Given the description of an element on the screen output the (x, y) to click on. 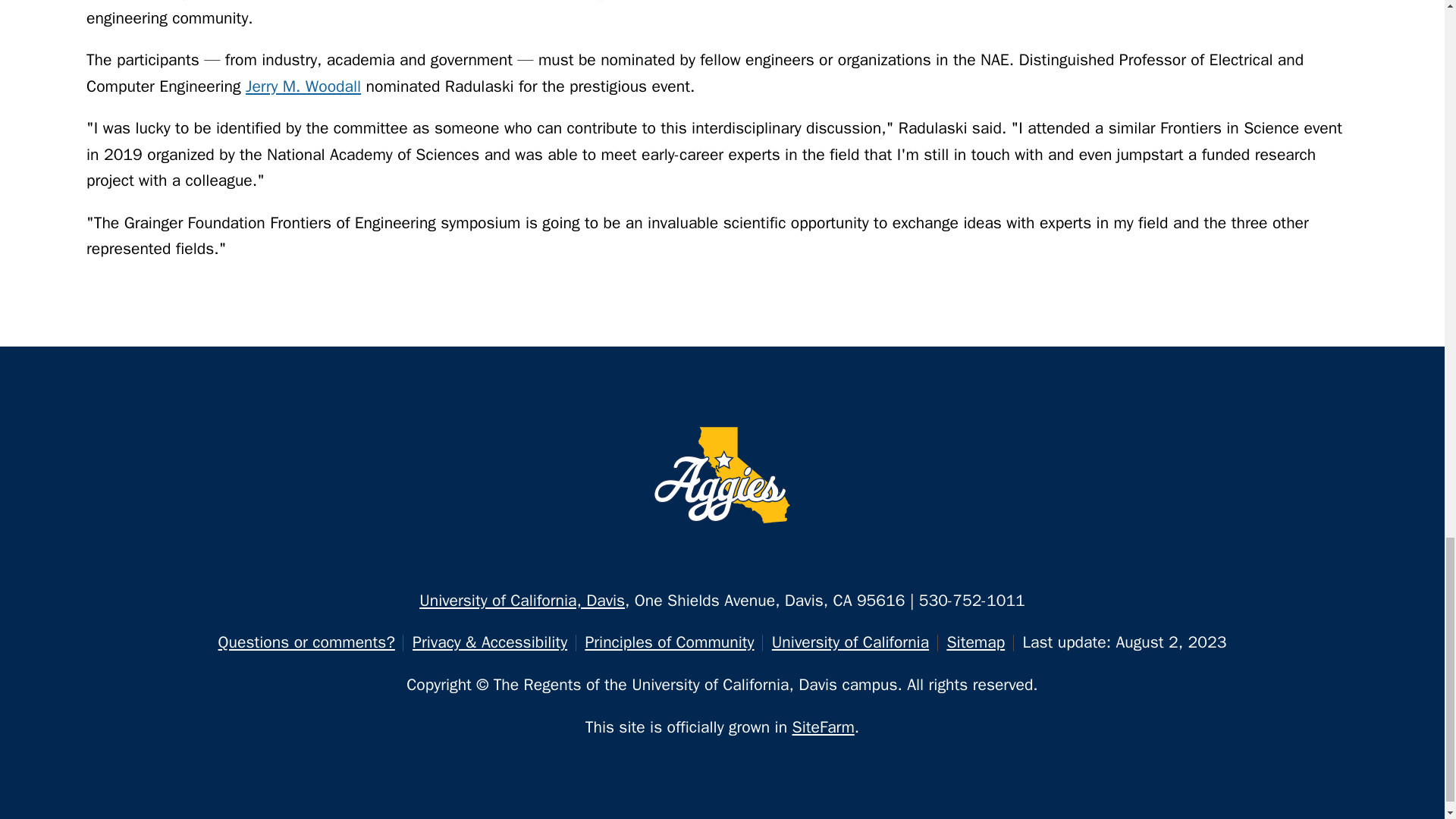
Principles of Community (669, 641)
University of California, Davis (521, 600)
SiteFarm (823, 727)
Questions or comments? (306, 641)
Jerry M. Woodall (303, 86)
University of California (849, 641)
Sitemap (975, 641)
